Given the description of an element on the screen output the (x, y) to click on. 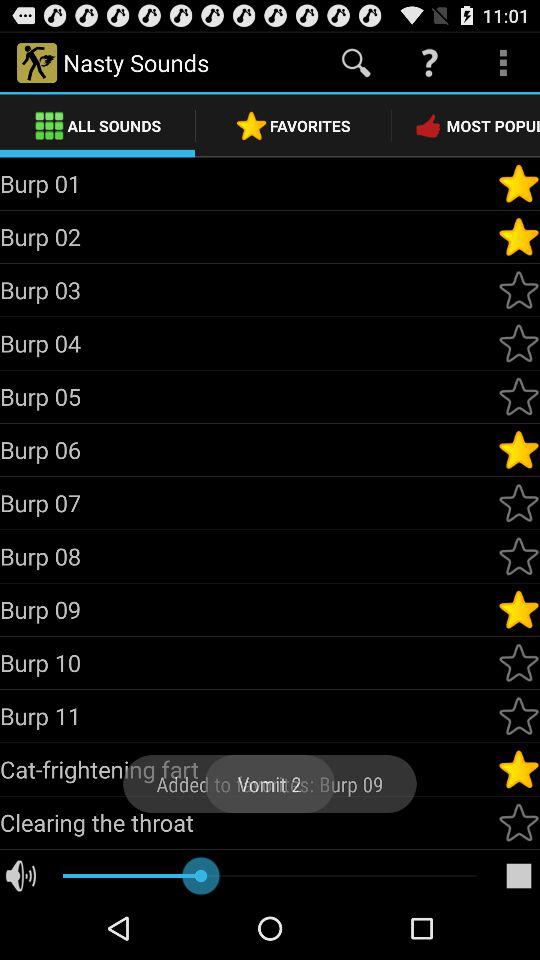
mark as favorite (519, 450)
